Given the description of an element on the screen output the (x, y) to click on. 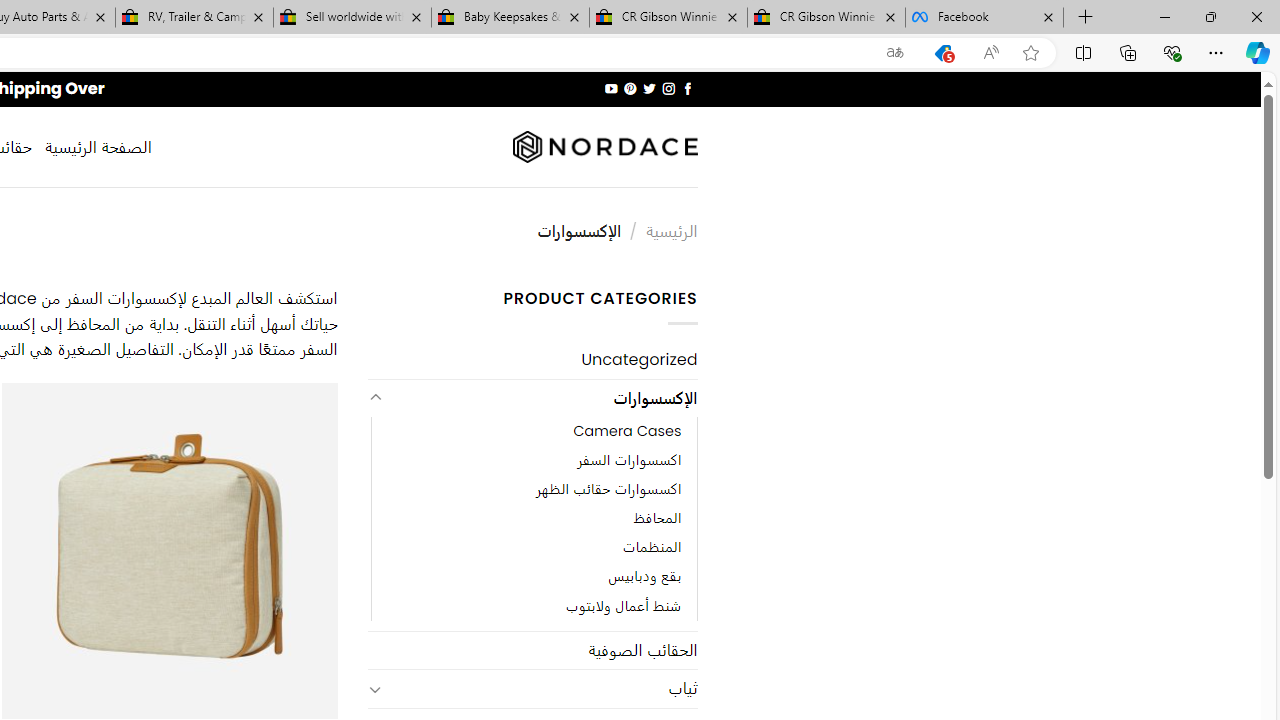
Add this page to favorites (Ctrl+D) (1030, 53)
Minimize (1164, 16)
Split screen (1083, 52)
Restore (1210, 16)
